Given the description of an element on the screen output the (x, y) to click on. 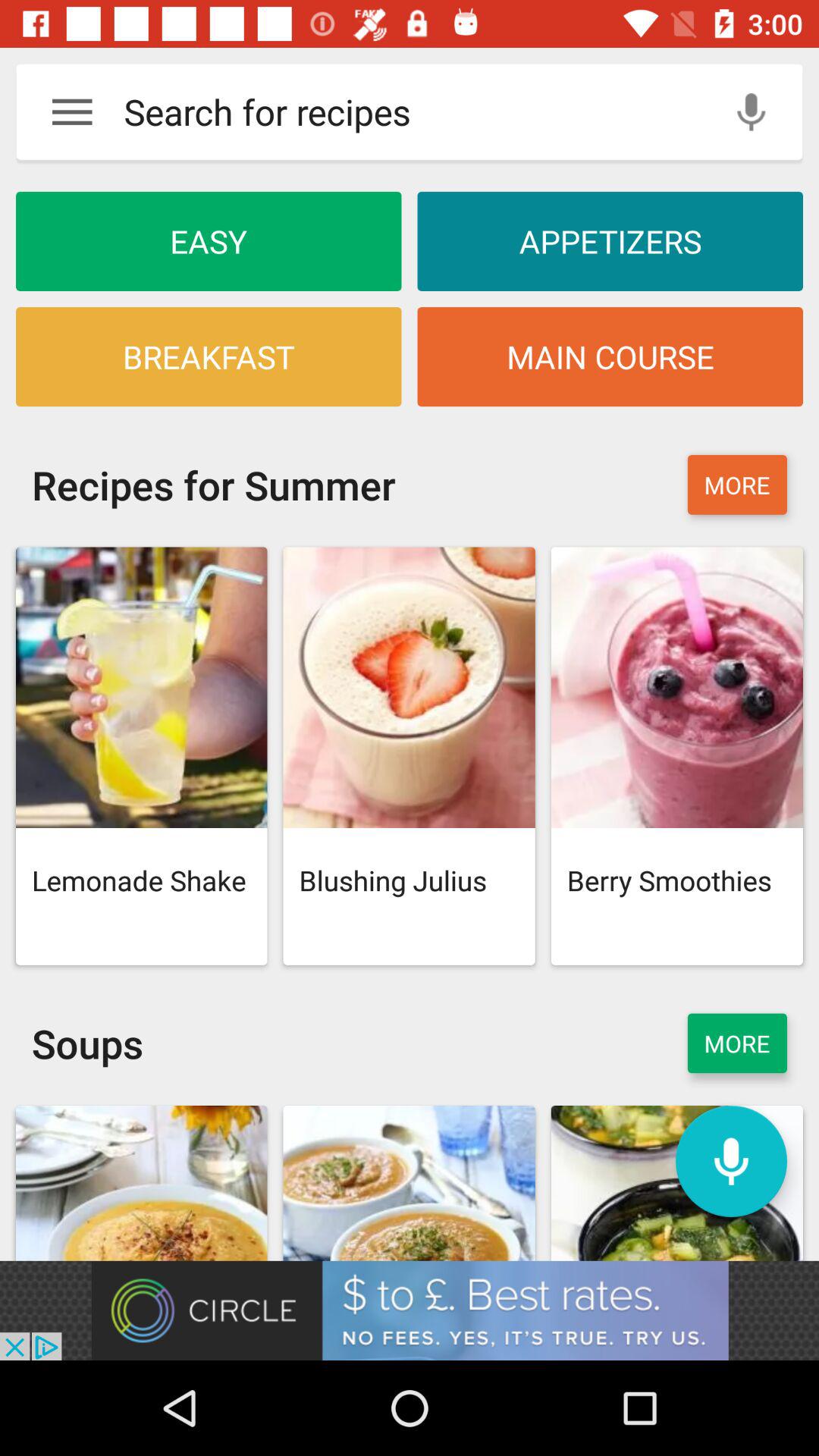
open advertisement (409, 1310)
